Given the description of an element on the screen output the (x, y) to click on. 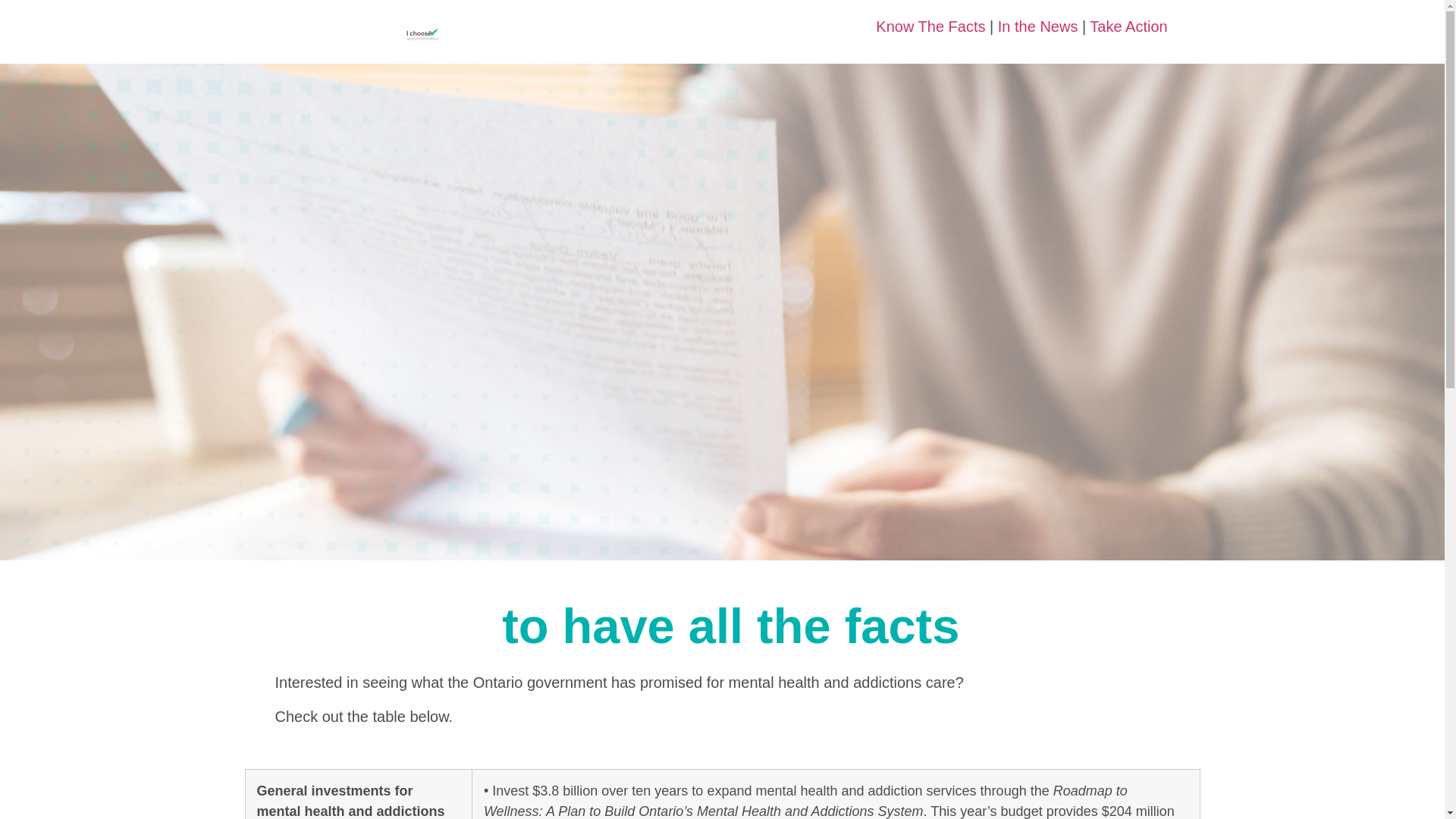
In the News (1037, 26)
Know The Facts (930, 26)
Take Action (1128, 26)
